Given the description of an element on the screen output the (x, y) to click on. 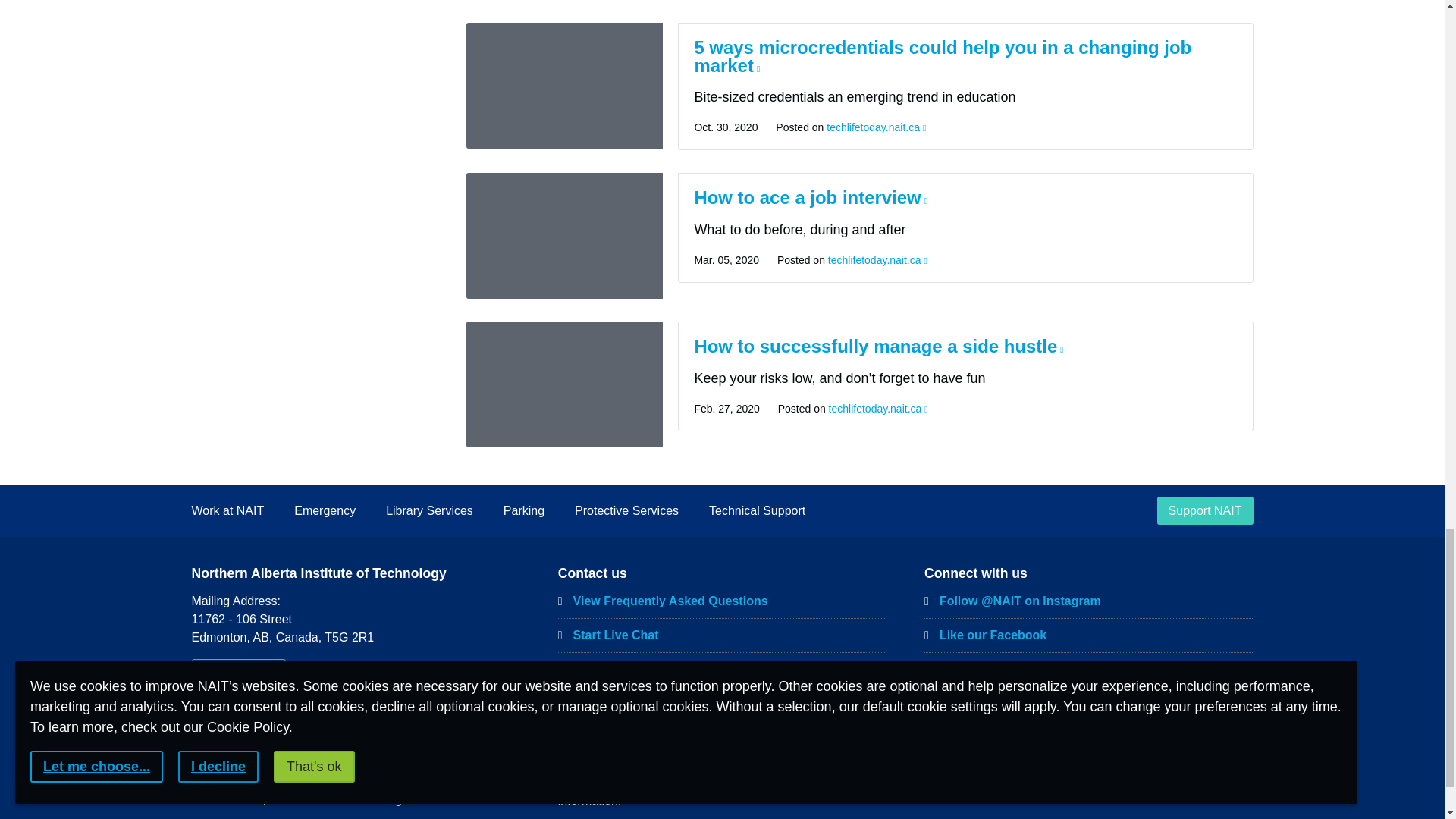
Bite-sized credentials an emerging trend in education (563, 85)
What to do before, during and after (563, 235)
